Given the description of an element on the screen output the (x, y) to click on. 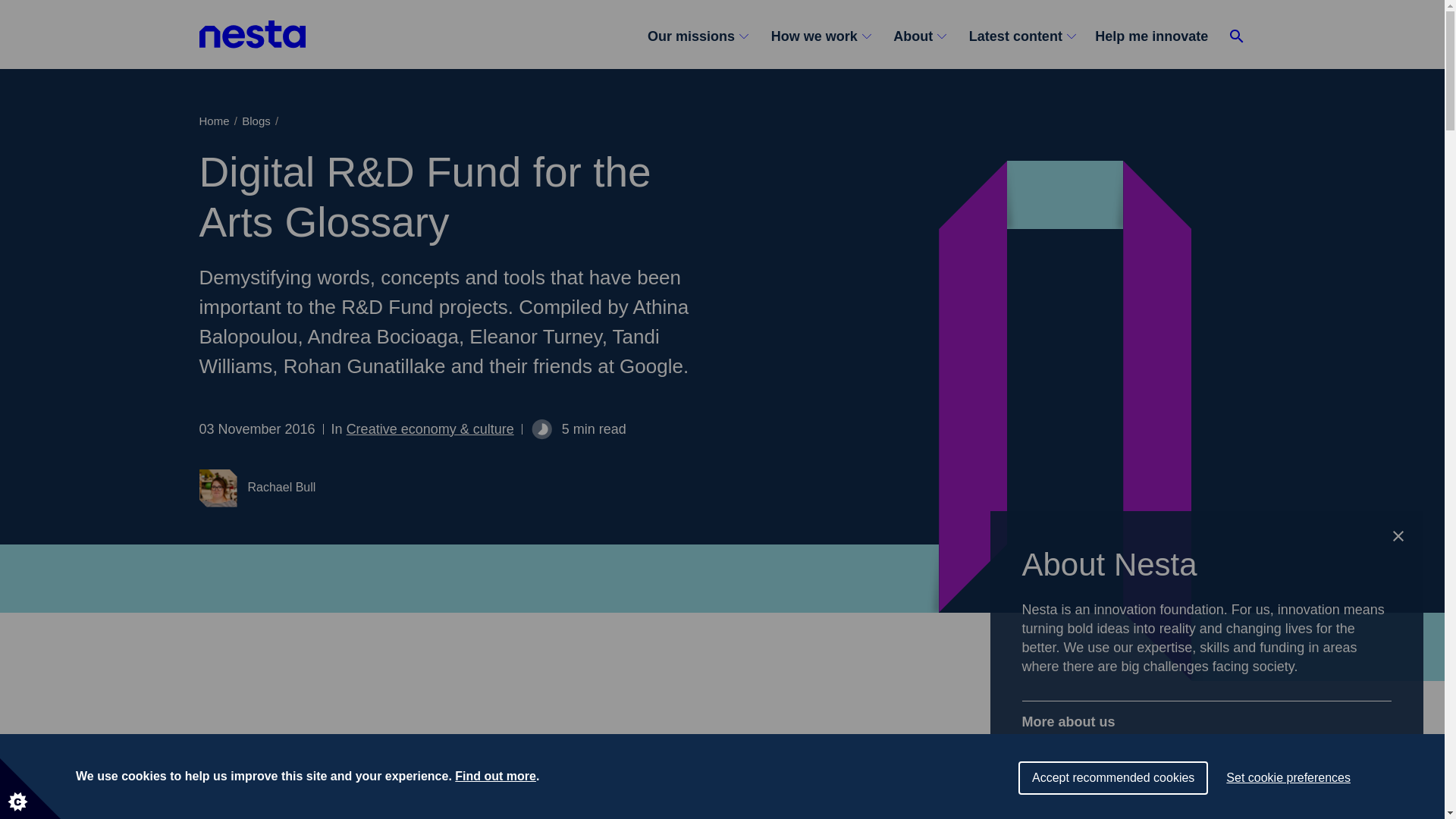
Accept recommended cookies (1112, 815)
Latest content (1021, 36)
Blogs (255, 120)
Our missions (702, 36)
About (918, 36)
Home (213, 120)
Help me innovate (1156, 36)
How we work (819, 36)
Set cookie preferences (1288, 808)
